Given the description of an element on the screen output the (x, y) to click on. 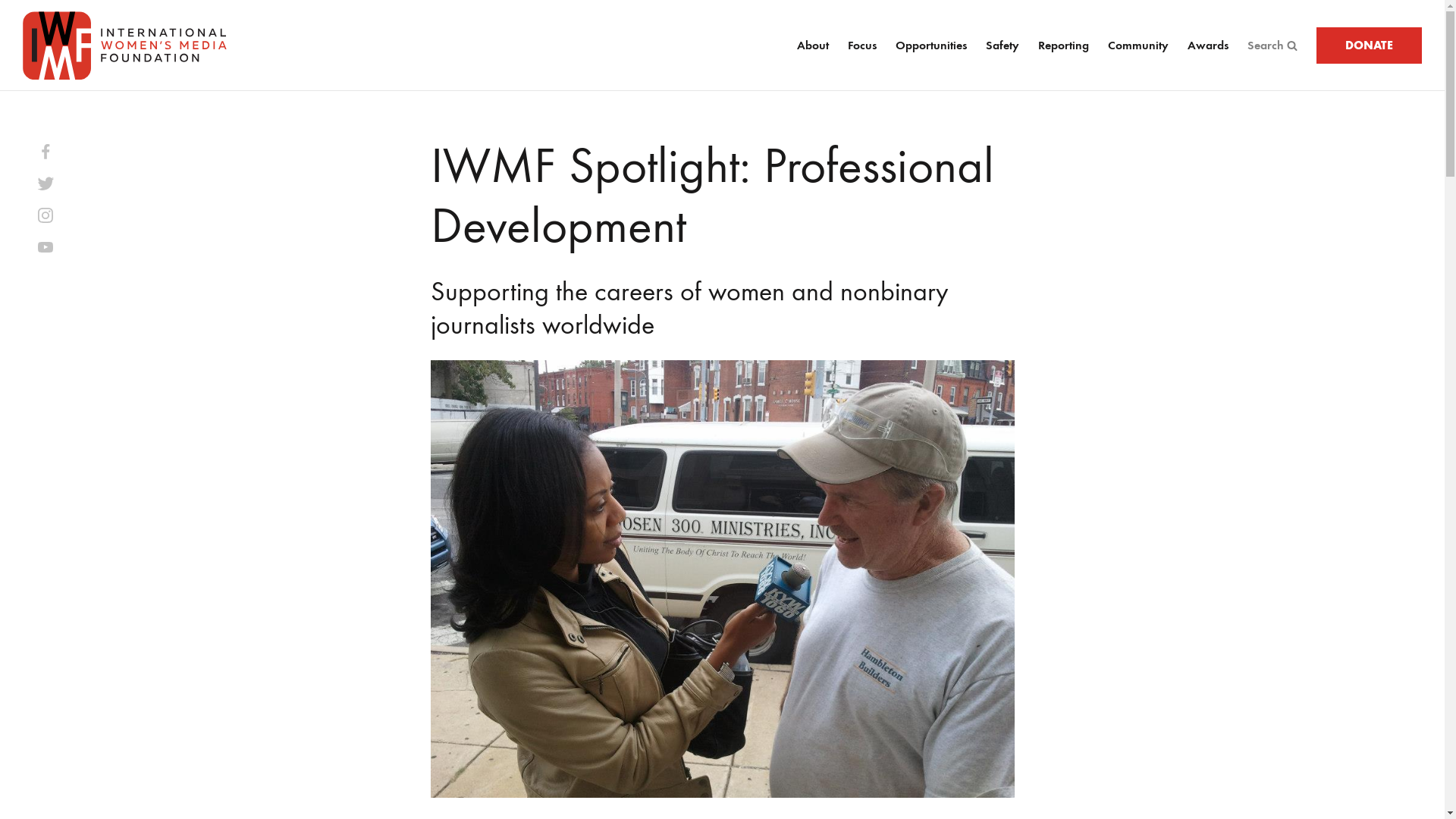
Safety (1002, 45)
Opportunities (930, 45)
